Given the description of an element on the screen output the (x, y) to click on. 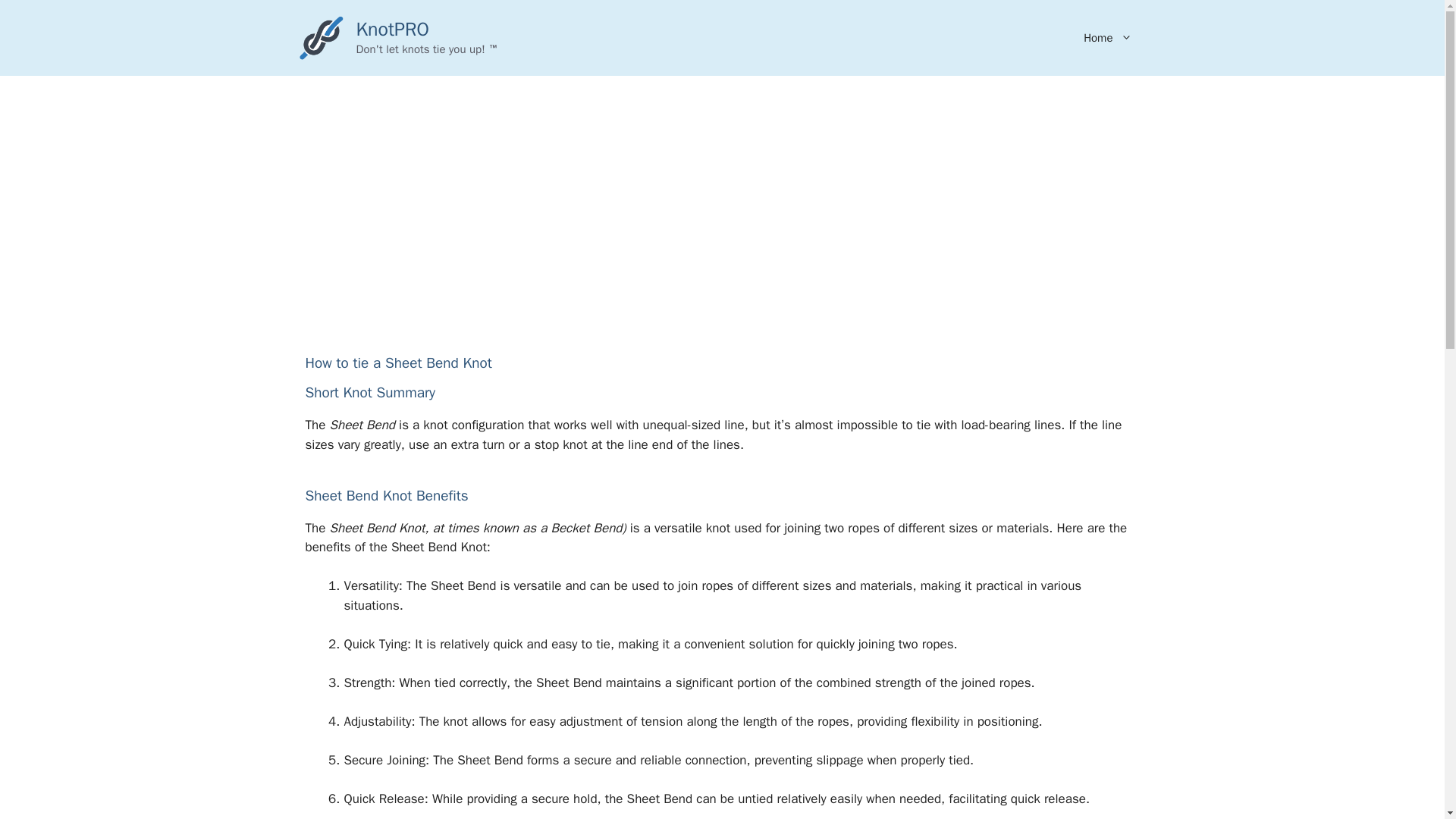
Home (1107, 37)
KnotPRO (392, 28)
